Given the description of an element on the screen output the (x, y) to click on. 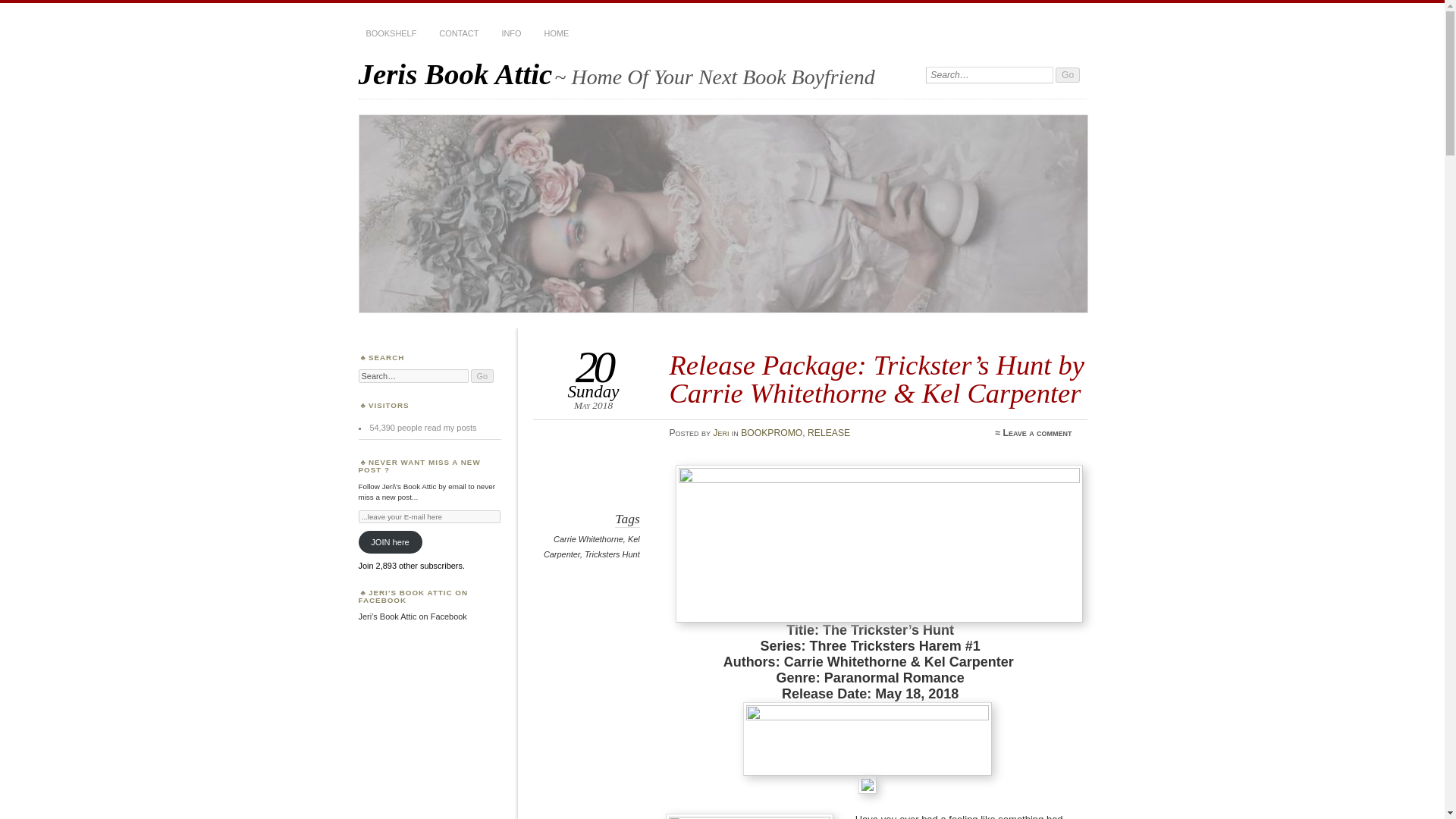
HOME (556, 33)
Go (482, 376)
Jeri (721, 432)
Go (1067, 74)
RELEASE (829, 432)
View all posts by Jeri (721, 432)
Go (1067, 74)
BOOKSHELF (390, 33)
Tricksters Hunt (612, 553)
BOOKPROMO (771, 432)
